Given the description of an element on the screen output the (x, y) to click on. 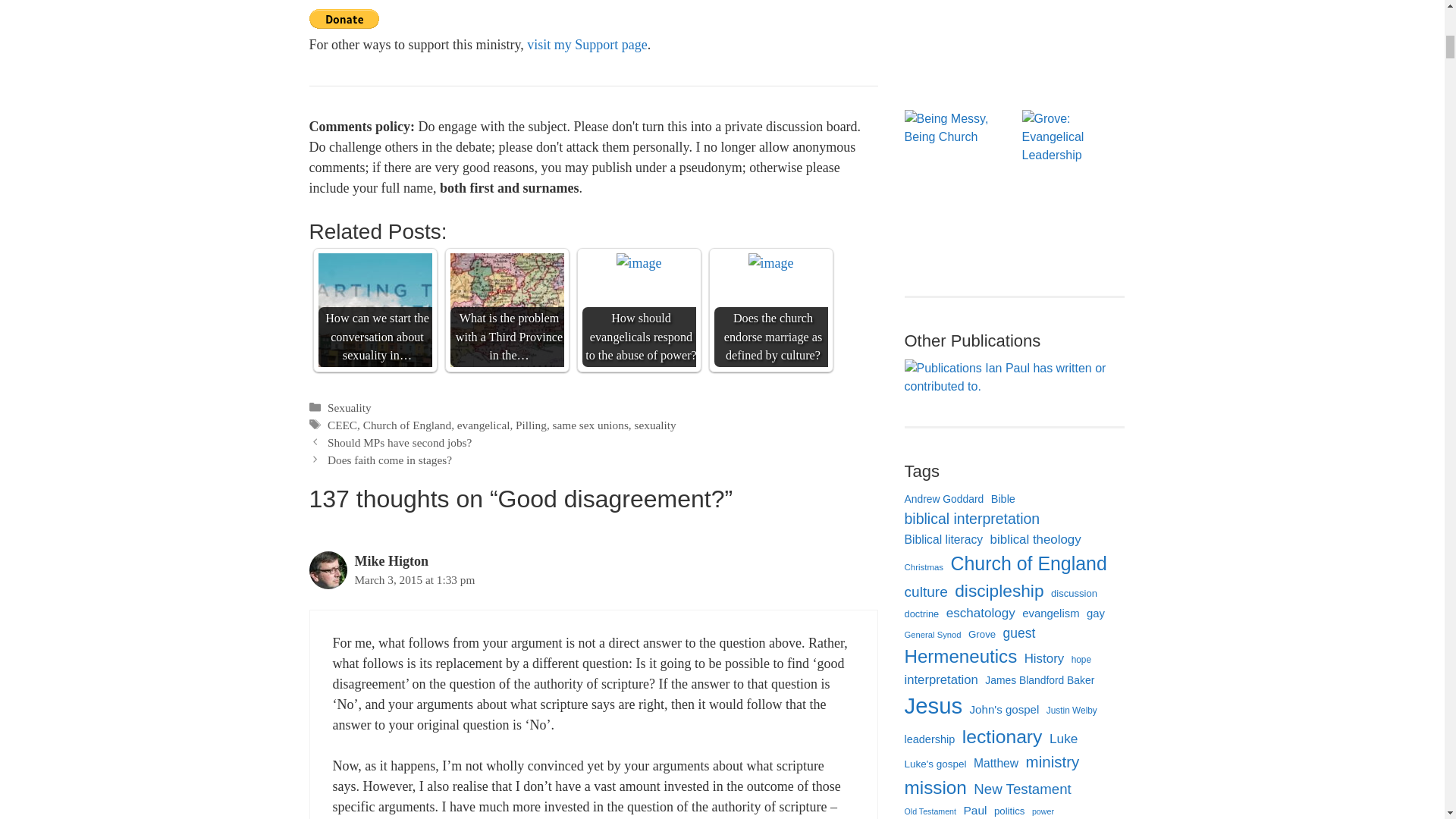
Sexuality (349, 407)
How should evangelicals respond to the abuse of power? (638, 263)
Does faith come in stages? (389, 459)
Does the church endorse marriage as defined by culture? (770, 263)
How should evangelicals respond to the abuse of power? (638, 309)
same sex unions (590, 424)
Church of England (406, 424)
sexuality (654, 424)
visit my Support page (587, 44)
